Given the description of an element on the screen output the (x, y) to click on. 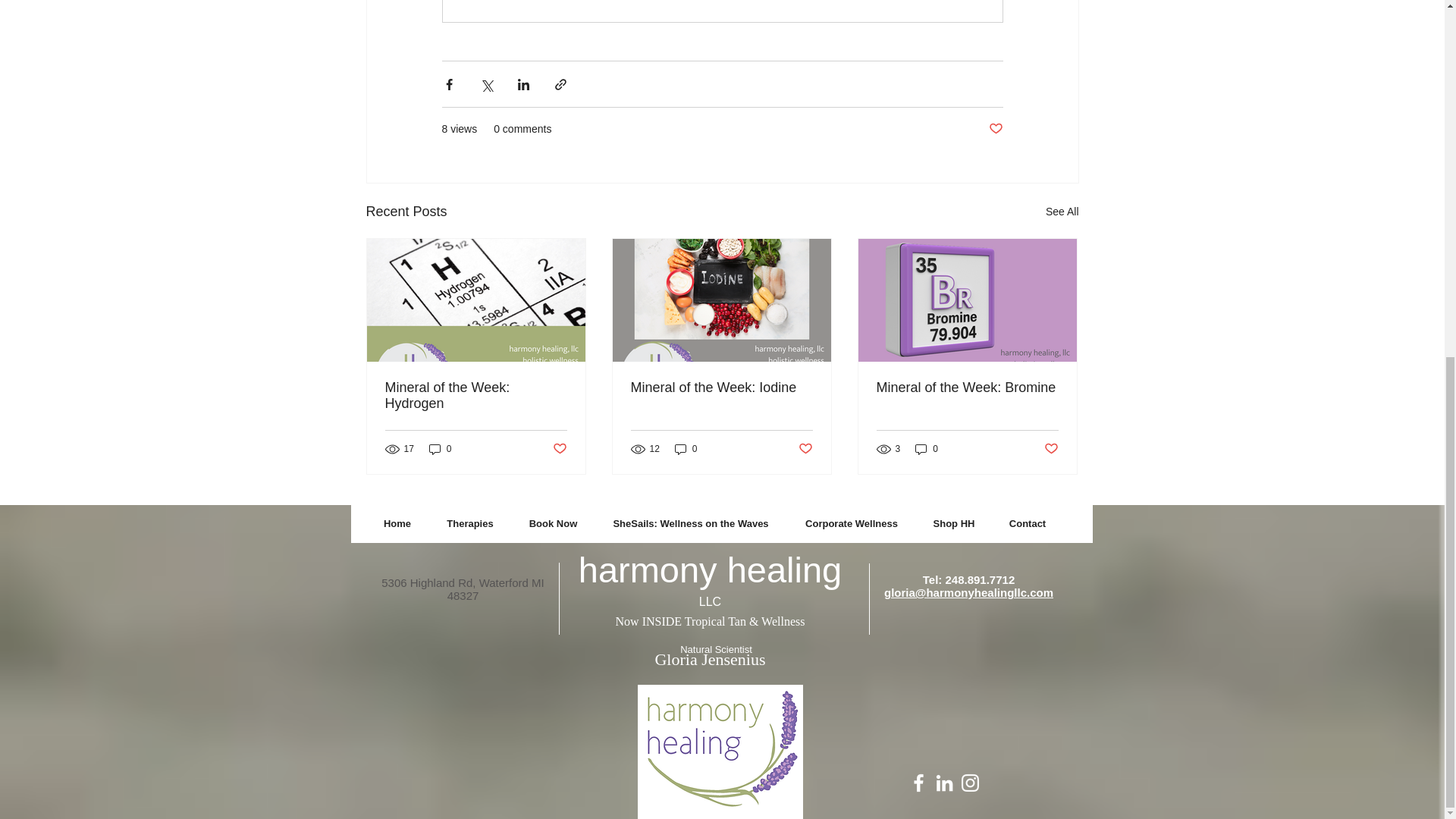
0 (685, 448)
0 (926, 448)
Mineral of the Week: Iodine (721, 387)
0 (440, 448)
Mineral of the Week: Hydrogen (476, 395)
Post not marked as liked (1050, 449)
Mineral of the Week: Bromine (967, 387)
Post not marked as liked (995, 129)
See All (1061, 211)
Home (396, 523)
